Given the description of an element on the screen output the (x, y) to click on. 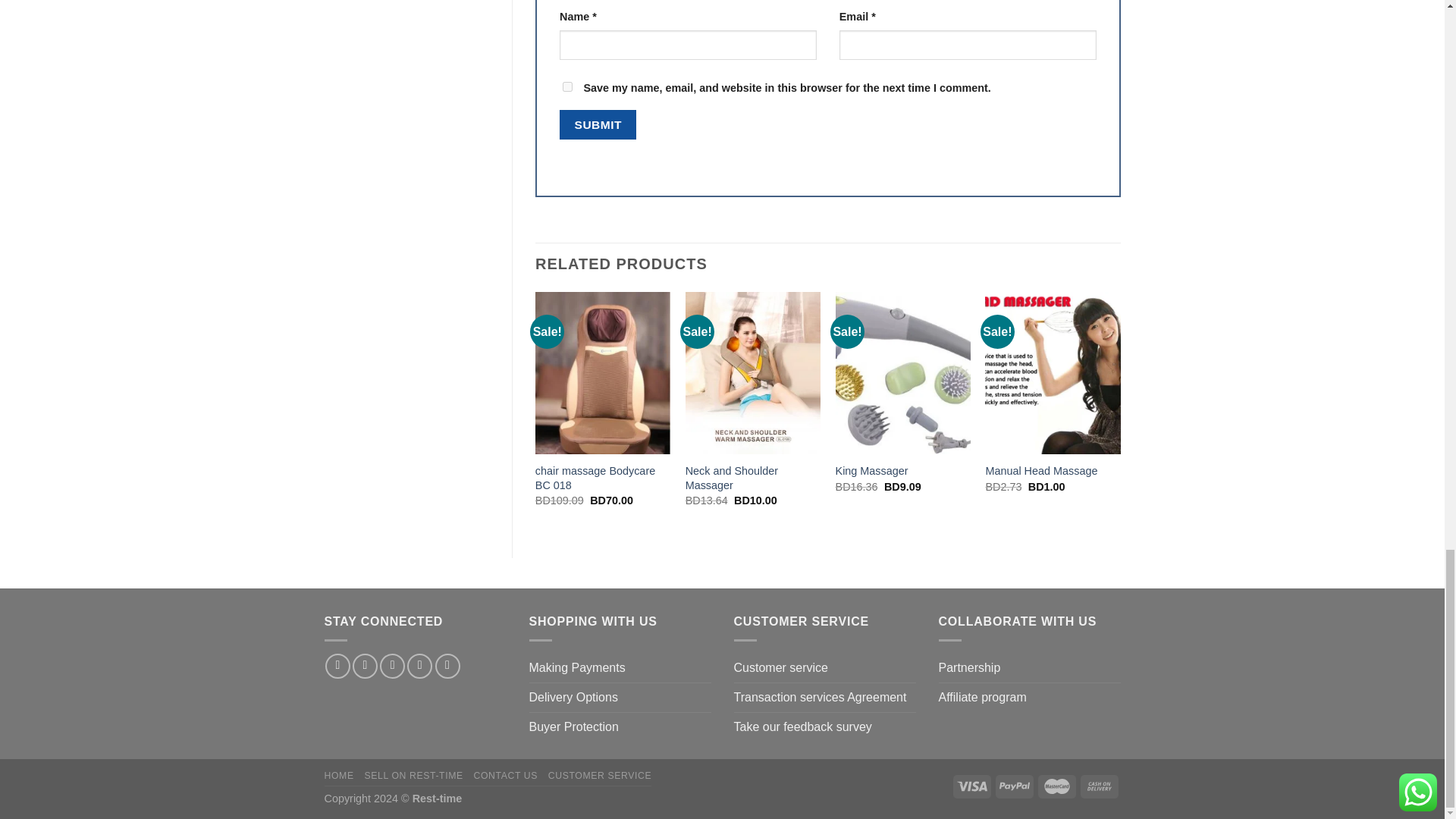
Submit (597, 124)
yes (567, 86)
